Given the description of an element on the screen output the (x, y) to click on. 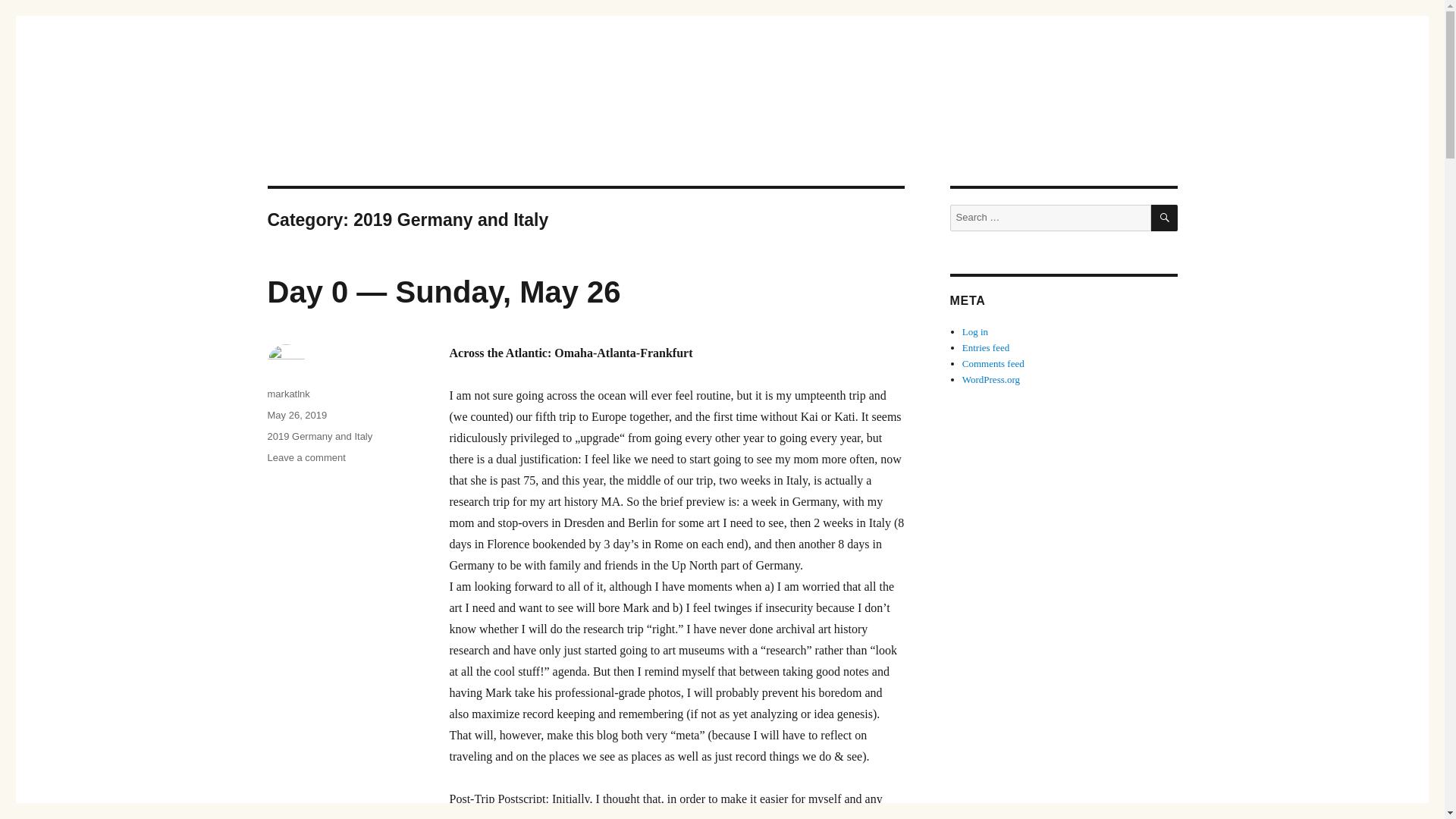
Comments feed (993, 363)
Log in (975, 331)
May 26, 2019 (296, 414)
WordPress.org (991, 378)
Travelogues and Other Musings (427, 114)
SEARCH (1164, 217)
2019 Germany and Italy (319, 436)
markatlnk (287, 393)
Entries feed (985, 347)
